Given the description of an element on the screen output the (x, y) to click on. 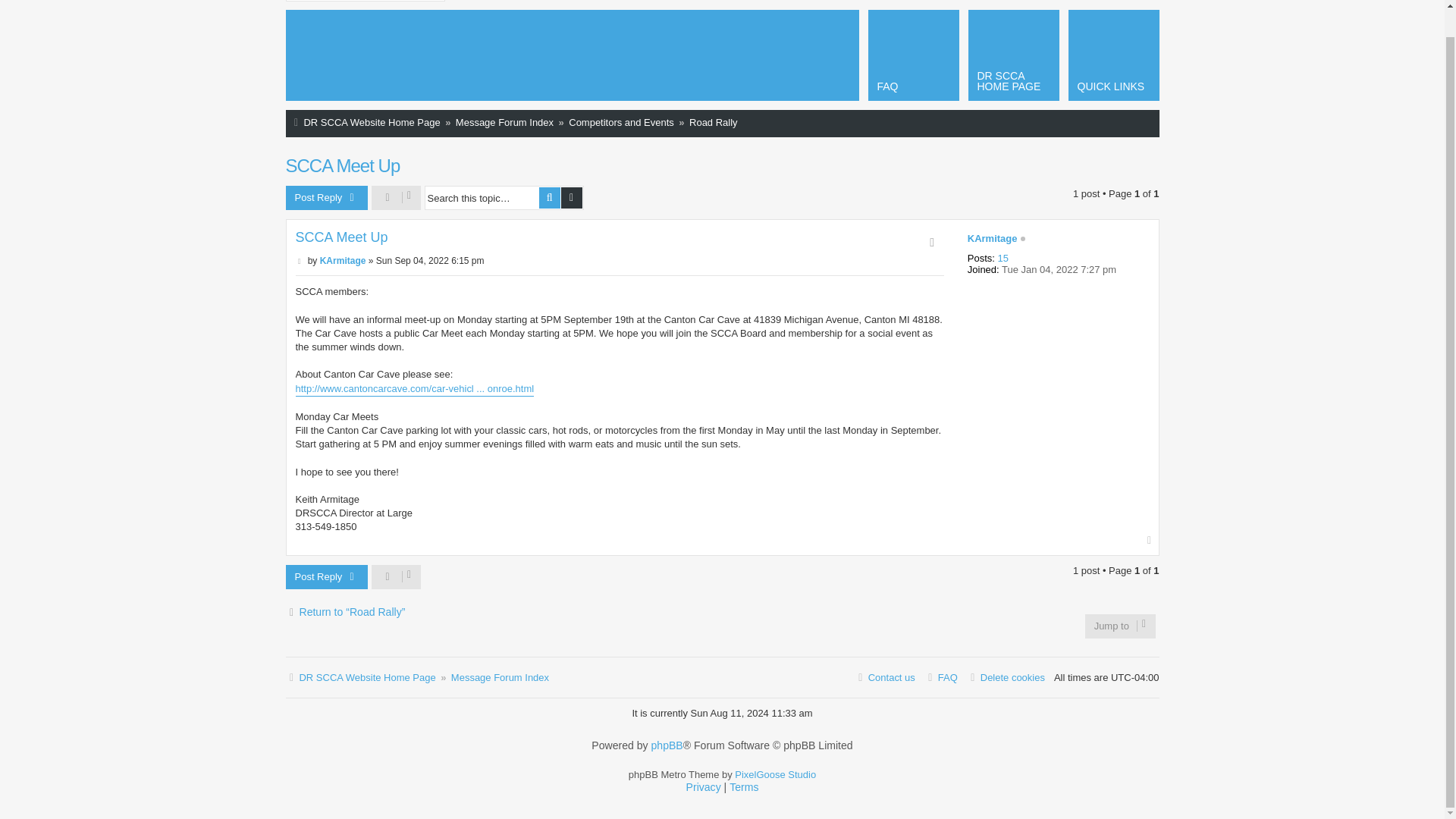
Post Reply (325, 197)
Reply with quote (931, 242)
FAQ (912, 54)
Search (549, 197)
Road Rally (713, 123)
Competitors and Events (621, 123)
Post Reply (325, 576)
KArmitage (992, 238)
Advanced search (571, 197)
SCCA Meet Up (341, 237)
